Given the description of an element on the screen output the (x, y) to click on. 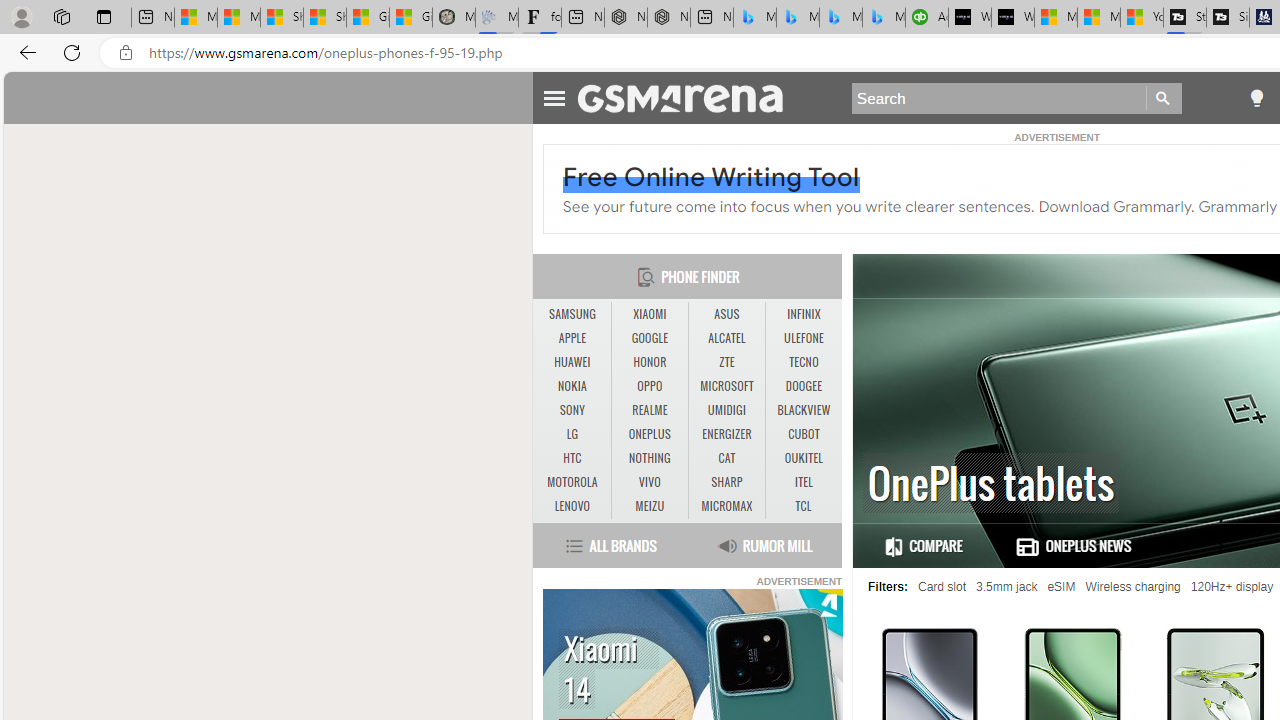
ZTE (726, 362)
TECNO (803, 362)
MICROMAX (726, 506)
LENOVO (571, 506)
CUBOT (803, 434)
VIVO (649, 483)
SHARP (726, 482)
VIVO (649, 482)
OPPO (649, 386)
MICROSOFT (726, 386)
XIAOMI (649, 314)
INFINIX (803, 314)
MOTOROLA (571, 482)
